Given the description of an element on the screen output the (x, y) to click on. 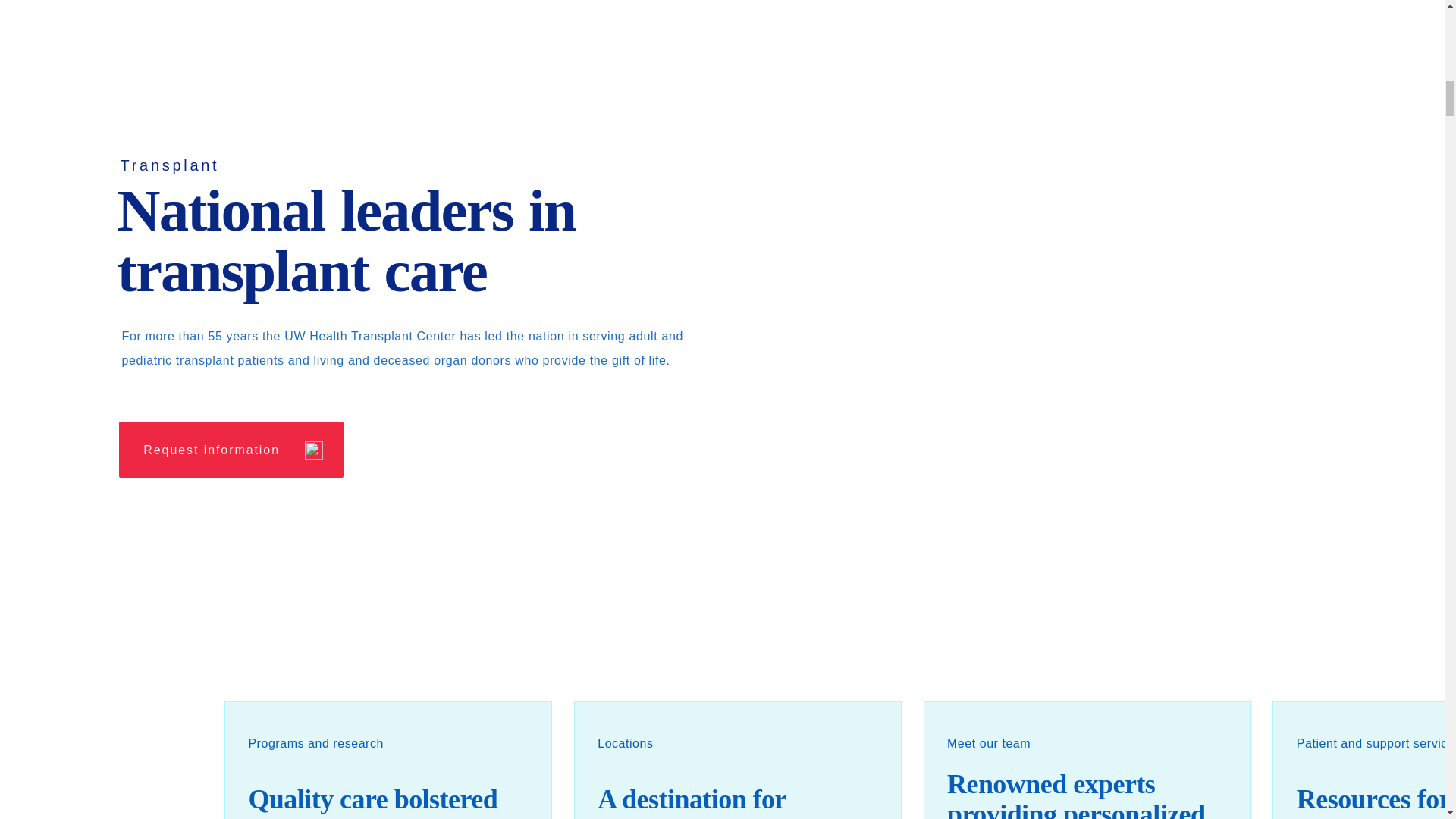
Renowned experts providing personalized care (1086, 760)
MyChart (1386, 11)
Find a Doctor (239, 11)
Request information (231, 449)
Quality care bolstered by innovation (387, 760)
A destination for transplant (737, 760)
